Given the description of an element on the screen output the (x, y) to click on. 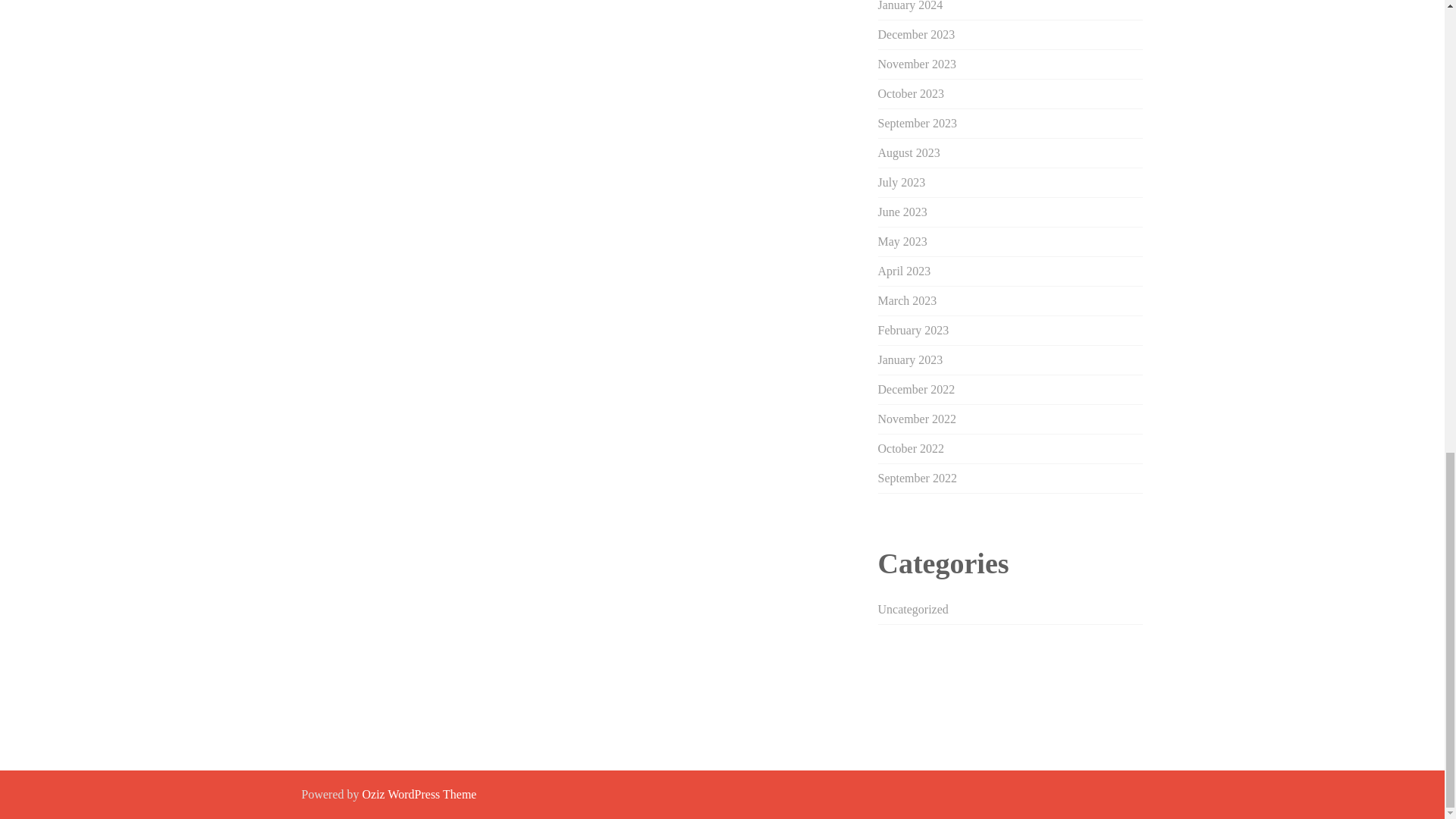
January 2024 (910, 5)
September 2023 (916, 123)
August 2023 (908, 152)
March 2023 (907, 300)
October 2023 (910, 92)
February 2023 (913, 329)
April 2023 (904, 270)
November 2023 (916, 63)
May 2023 (902, 241)
July 2023 (901, 182)
December 2023 (916, 33)
June 2023 (902, 211)
